Given the description of an element on the screen output the (x, y) to click on. 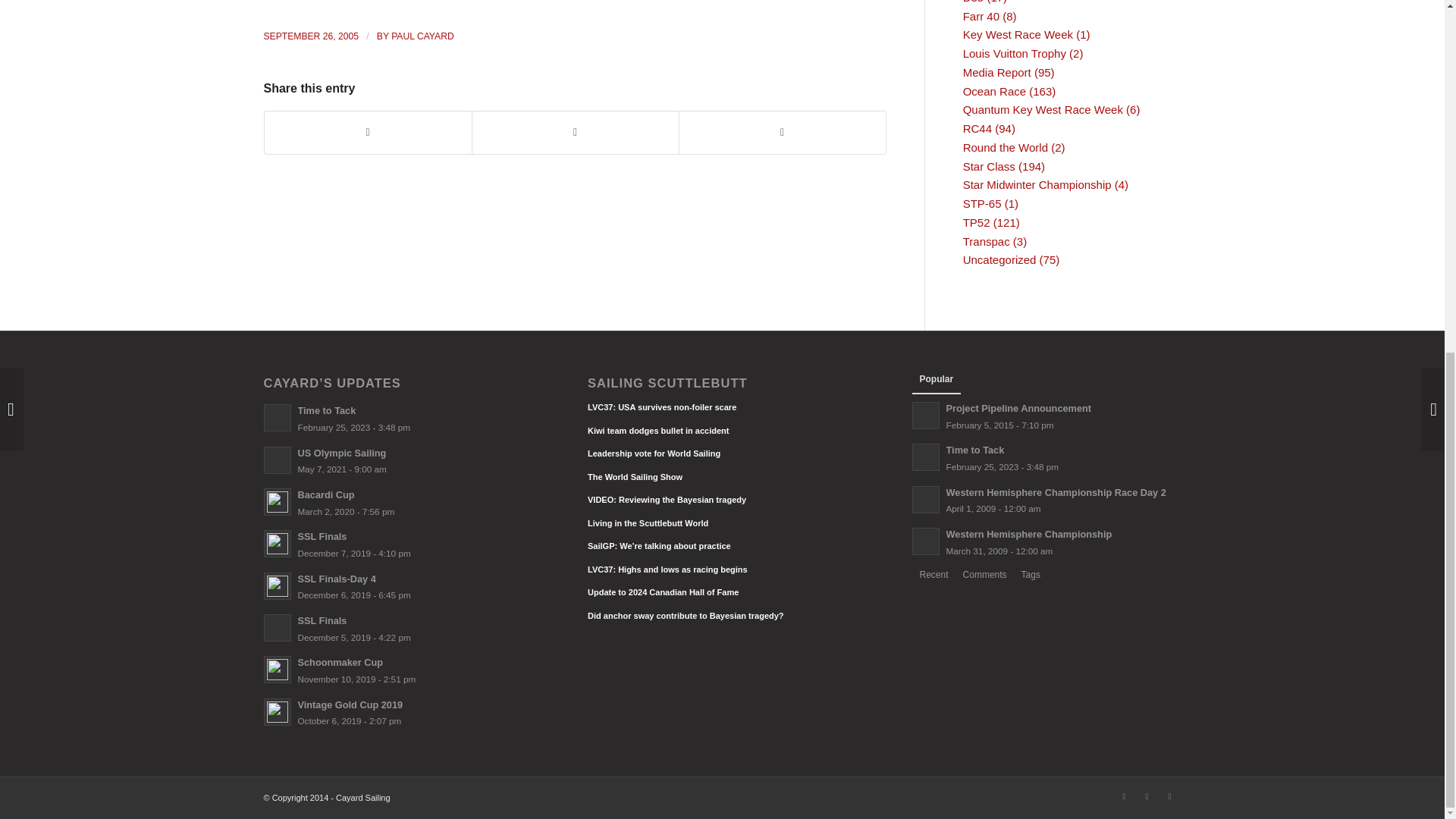
Round the World (1005, 146)
PAUL CAYARD (422, 36)
Posts by Paul Cayard (422, 36)
Time to Tack (397, 417)
SSL Finals (397, 544)
RC44 (976, 128)
Key West Race Week (1017, 33)
Louis Vuitton Trophy (1013, 52)
Star Class (988, 165)
Farr 40 (980, 15)
